Given the description of an element on the screen output the (x, y) to click on. 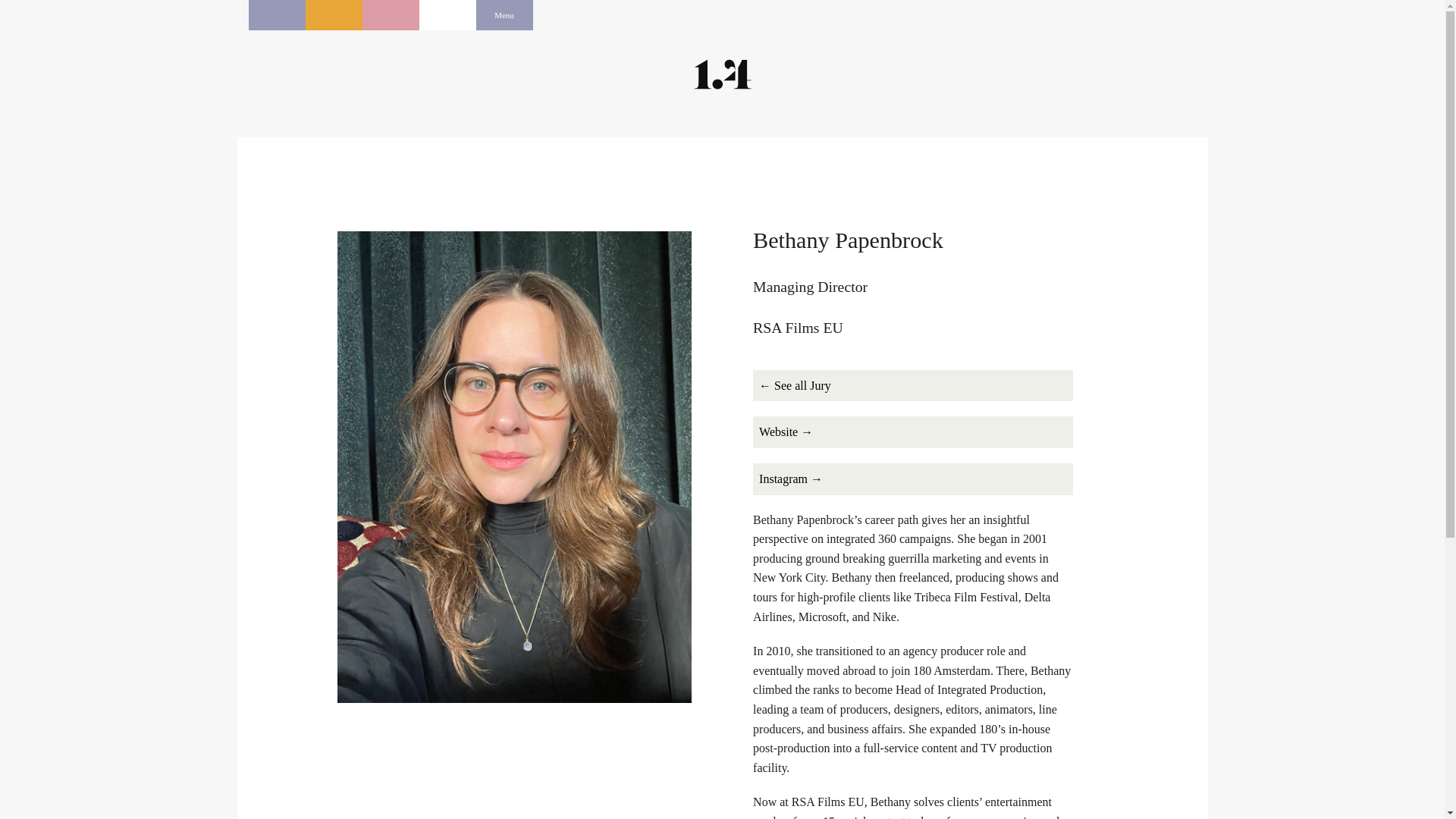
Website (912, 431)
Jury (912, 386)
